Given the description of an element on the screen output the (x, y) to click on. 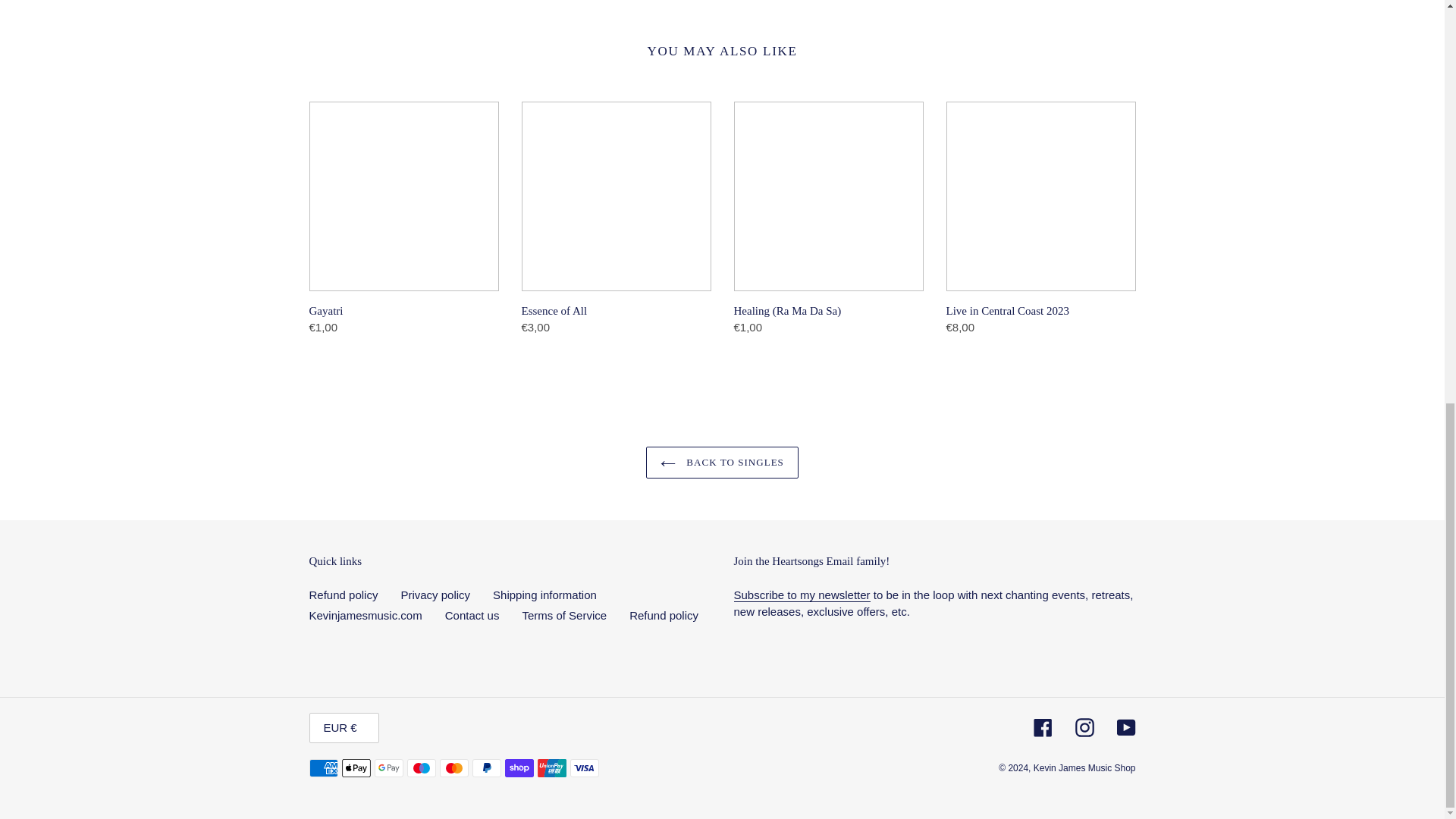
Live in Central Coast 2023 (1040, 222)
Essence of All (616, 222)
Refund policy (343, 594)
BACK TO SINGLES (721, 462)
Privacy policy (435, 594)
Shipping information (544, 594)
Gayatri (403, 222)
